Given the description of an element on the screen output the (x, y) to click on. 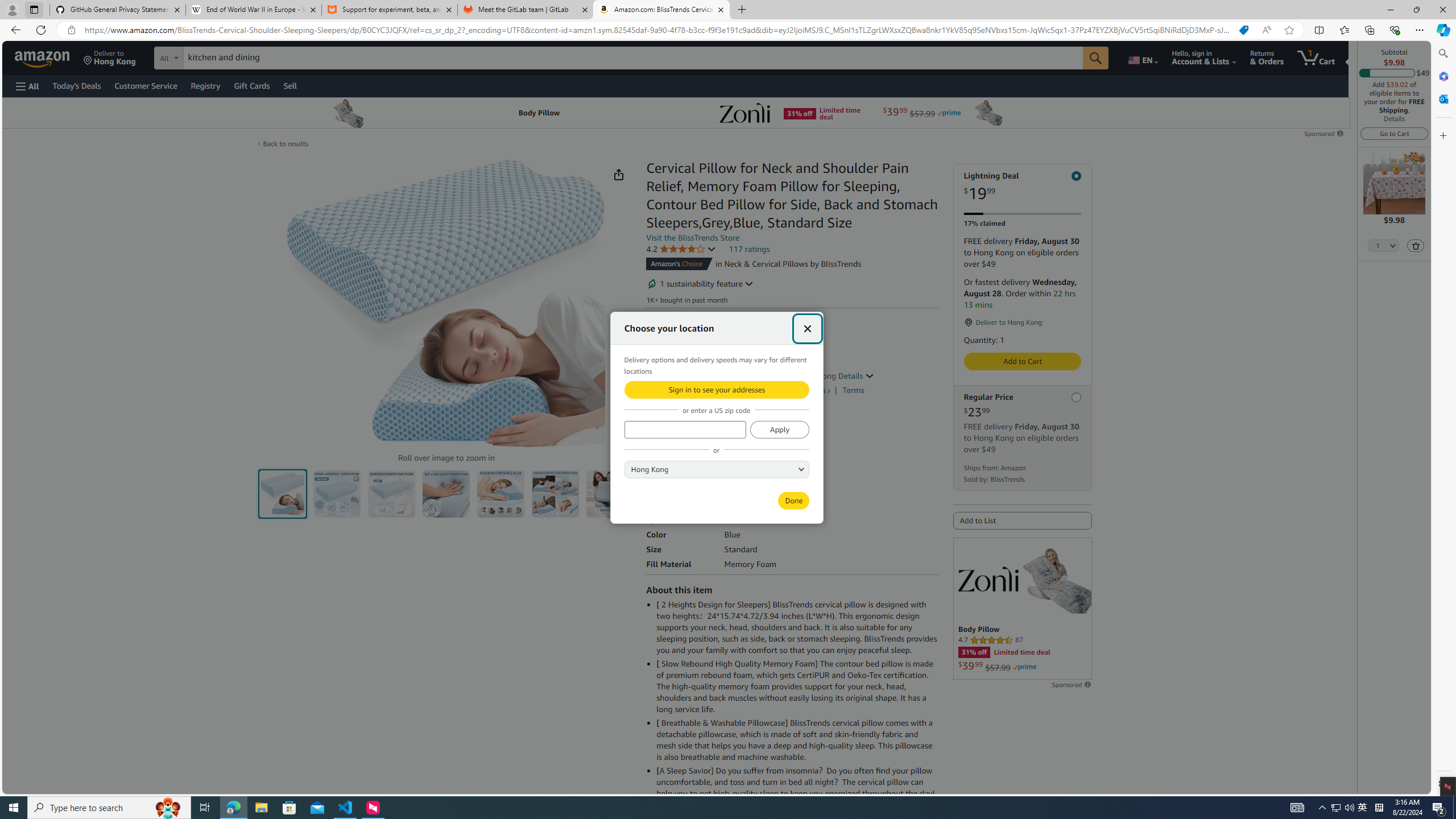
Shop items (806, 389)
Search in (210, 56)
Sign in to see your addresses (716, 389)
Delete (1415, 245)
Visit the BlissTrends Store (692, 237)
